Given the description of an element on the screen output the (x, y) to click on. 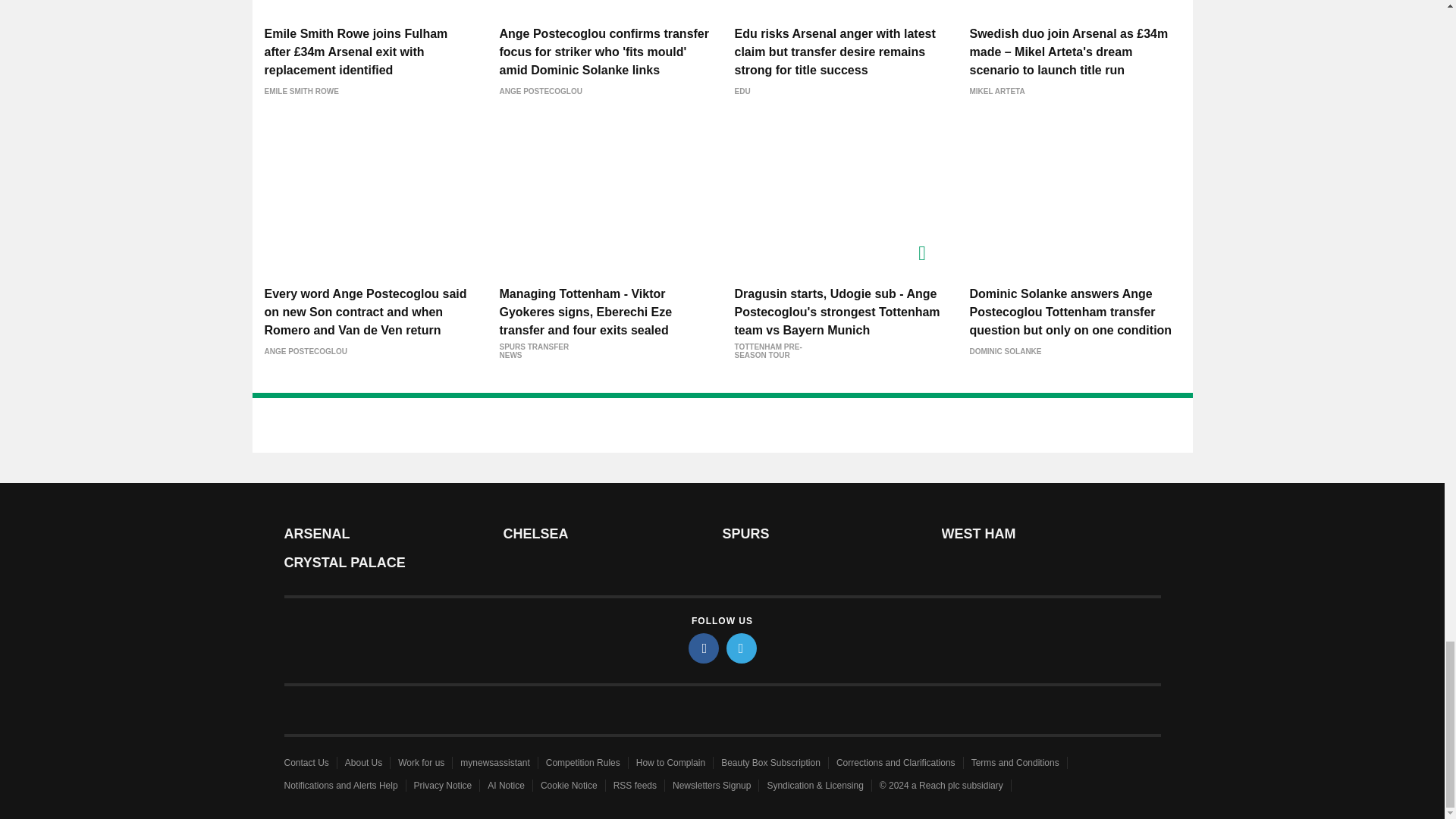
facebook (703, 648)
twitter (741, 648)
